Given the description of an element on the screen output the (x, y) to click on. 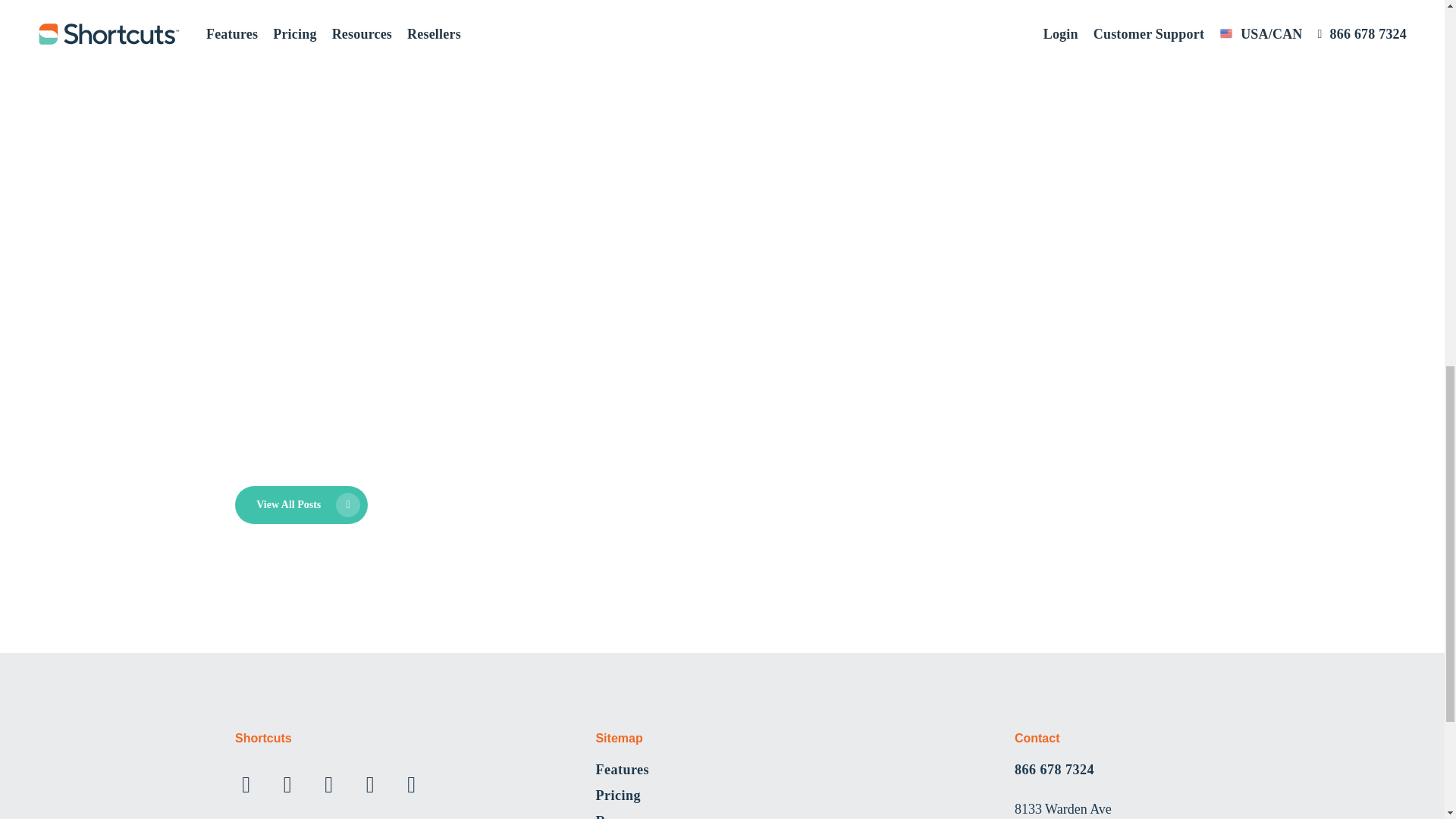
View All Posts (301, 505)
